Given the description of an element on the screen output the (x, y) to click on. 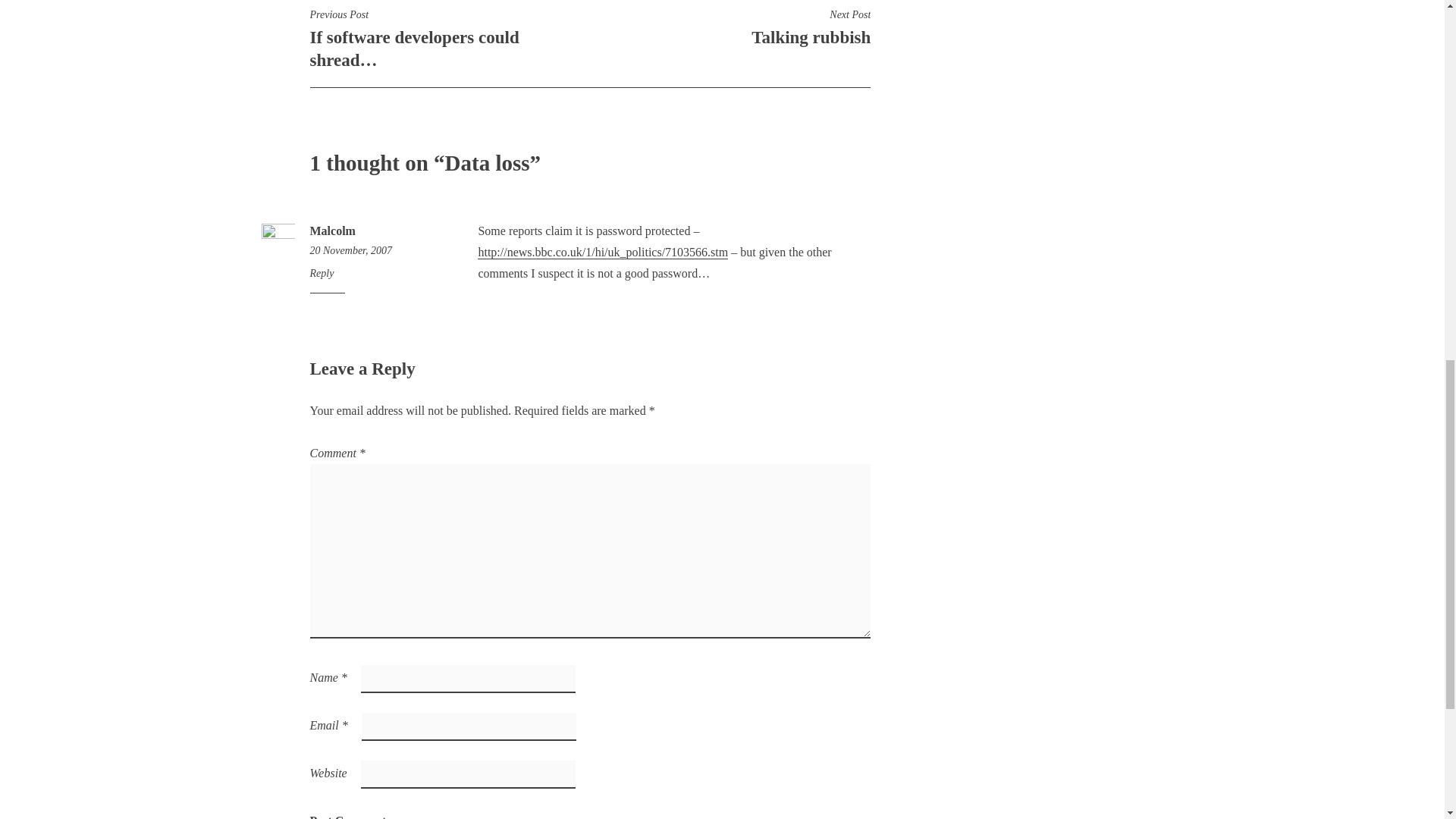
Post Comment (729, 27)
Malcolm (346, 813)
Post Comment (331, 230)
Reply (346, 813)
